Given the description of an element on the screen output the (x, y) to click on. 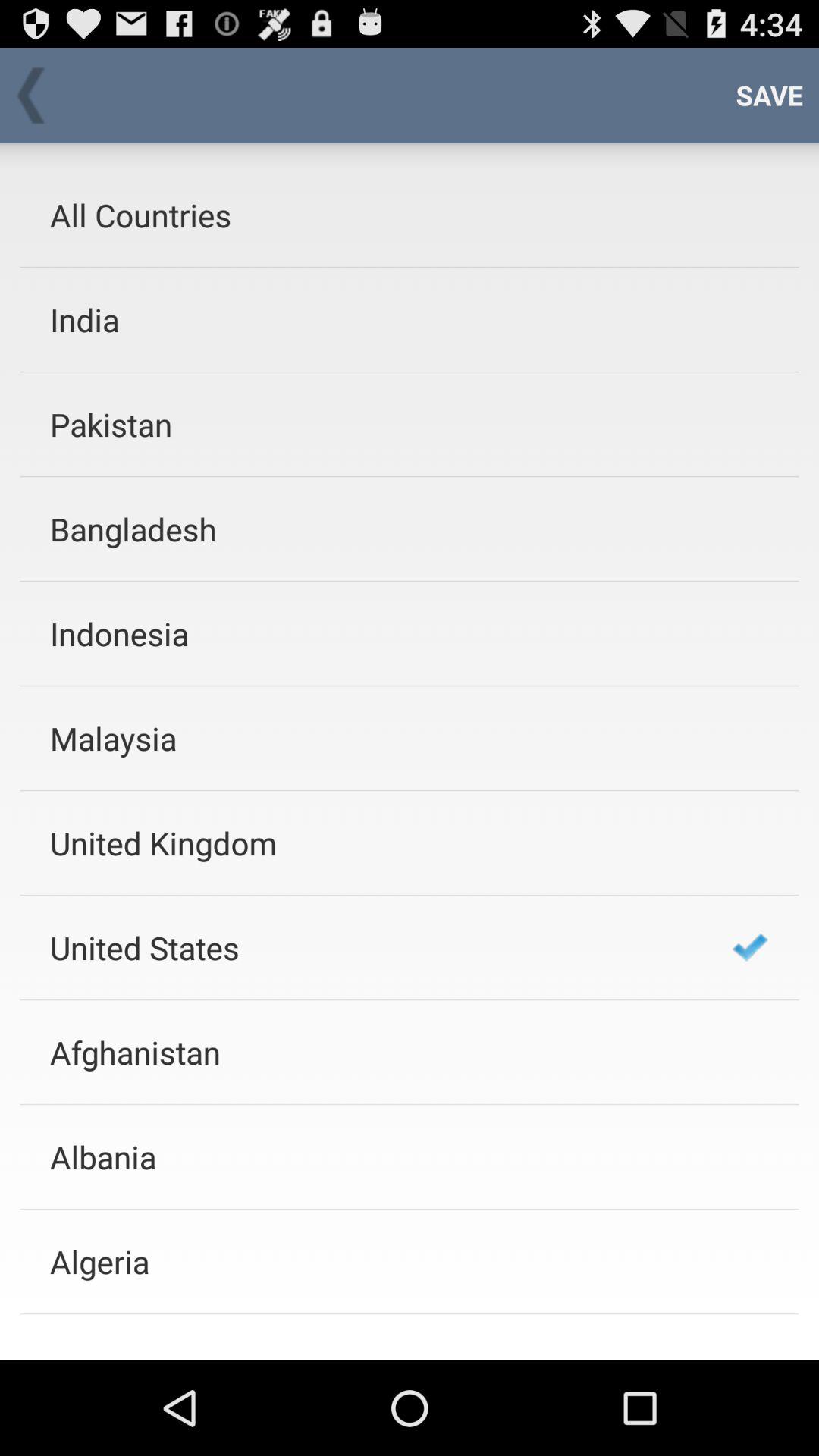
press the pakistan icon (371, 423)
